Given the description of an element on the screen output the (x, y) to click on. 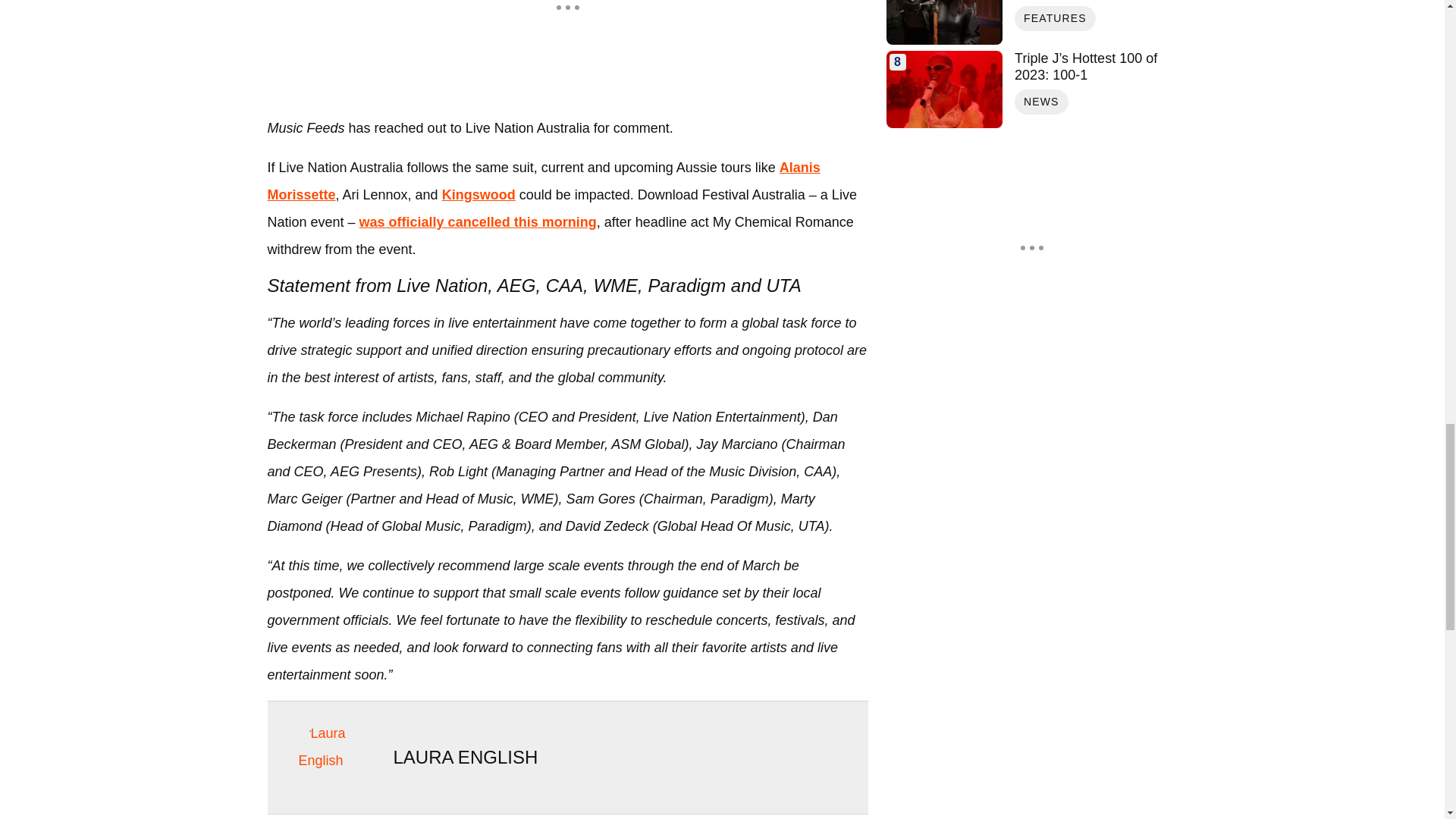
Alanis Morissette (542, 180)
LAURA ENGLISH (465, 756)
Kingswood (478, 194)
was officially cancelled this morning (477, 222)
